Given the description of an element on the screen output the (x, y) to click on. 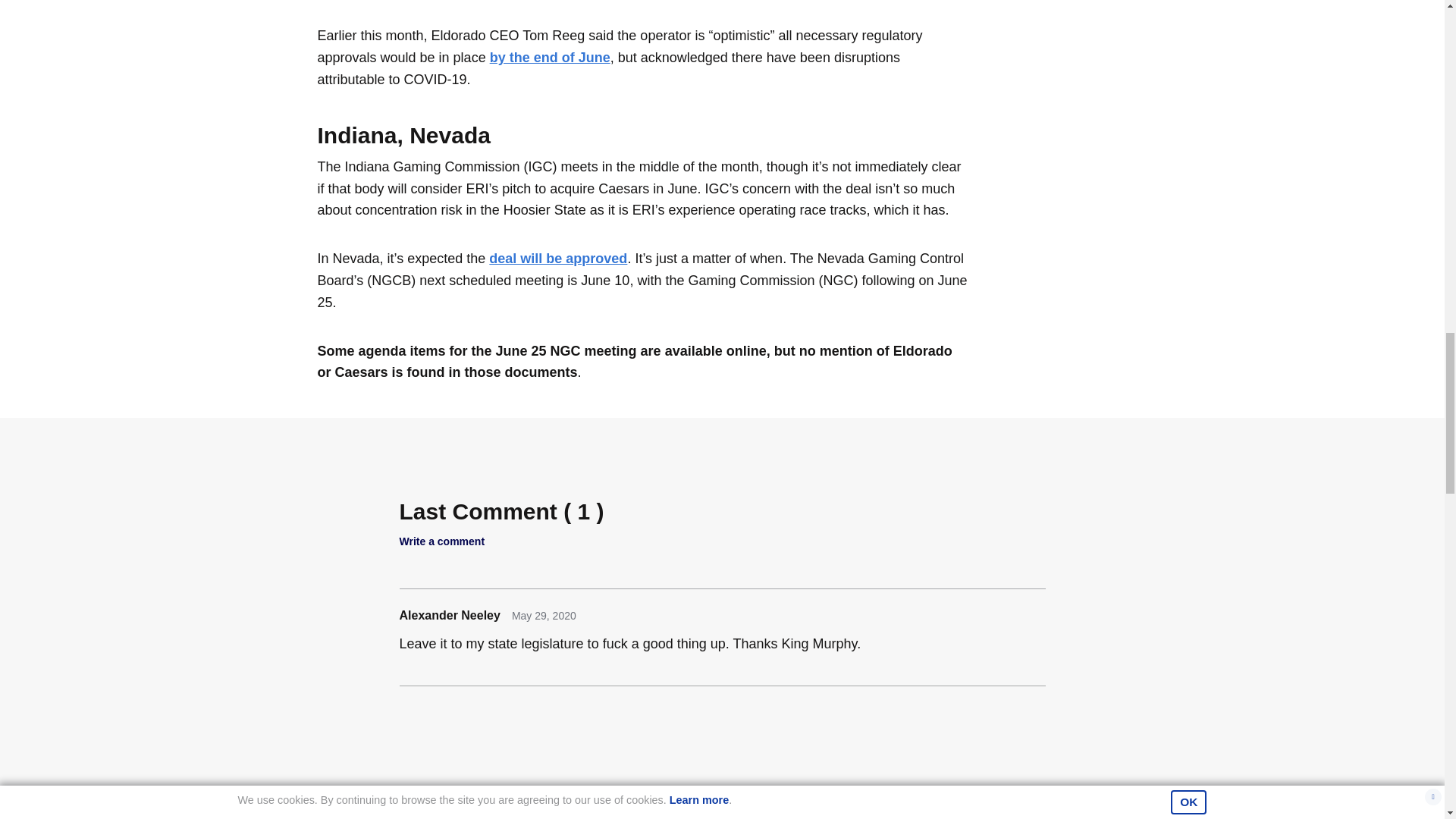
by the end of June (549, 57)
deal will be approved (558, 258)
